Given the description of an element on the screen output the (x, y) to click on. 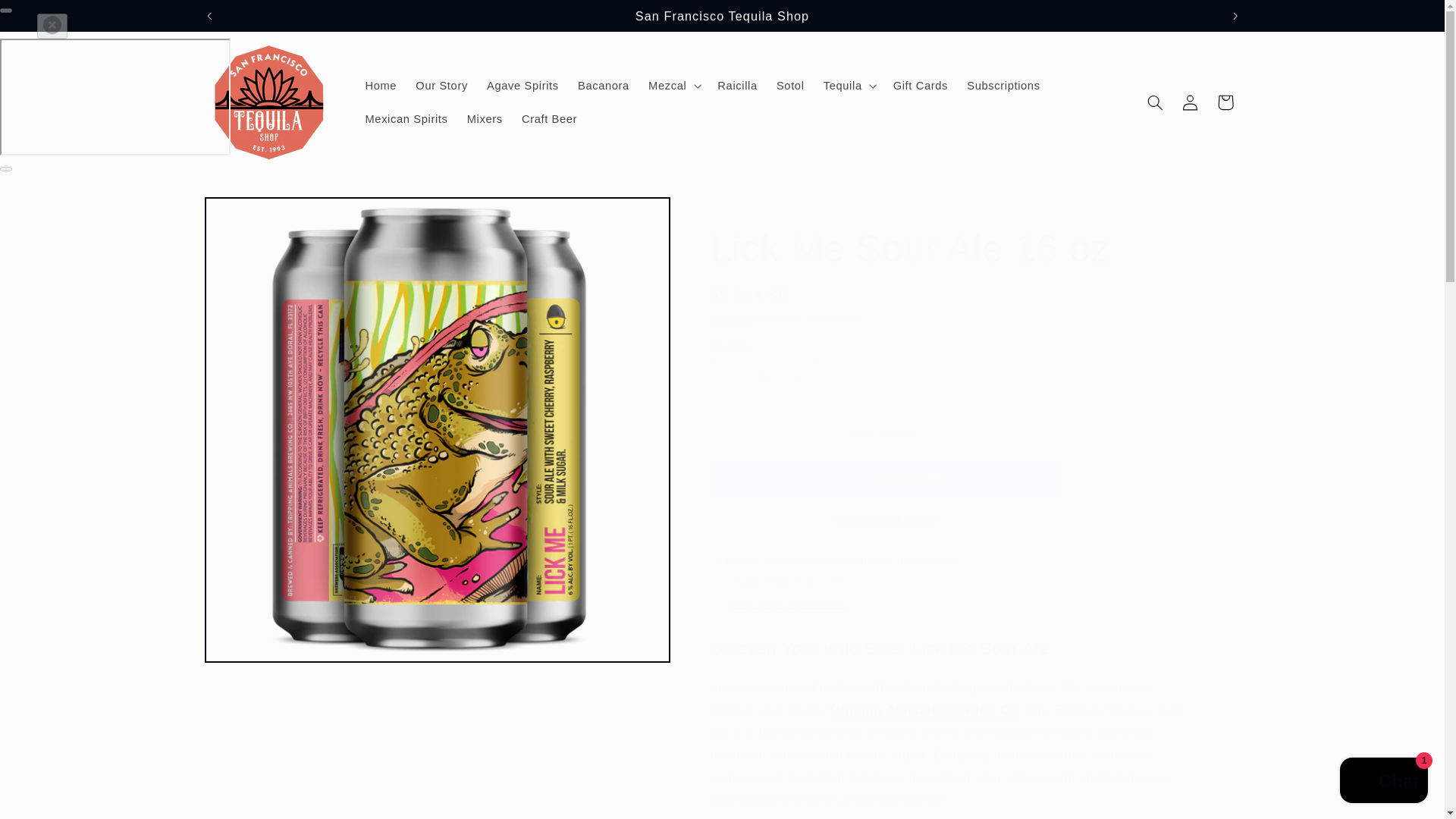
1 (764, 376)
Skip to content (48, 18)
Shopify online store chat (1383, 781)
